Given the description of an element on the screen output the (x, y) to click on. 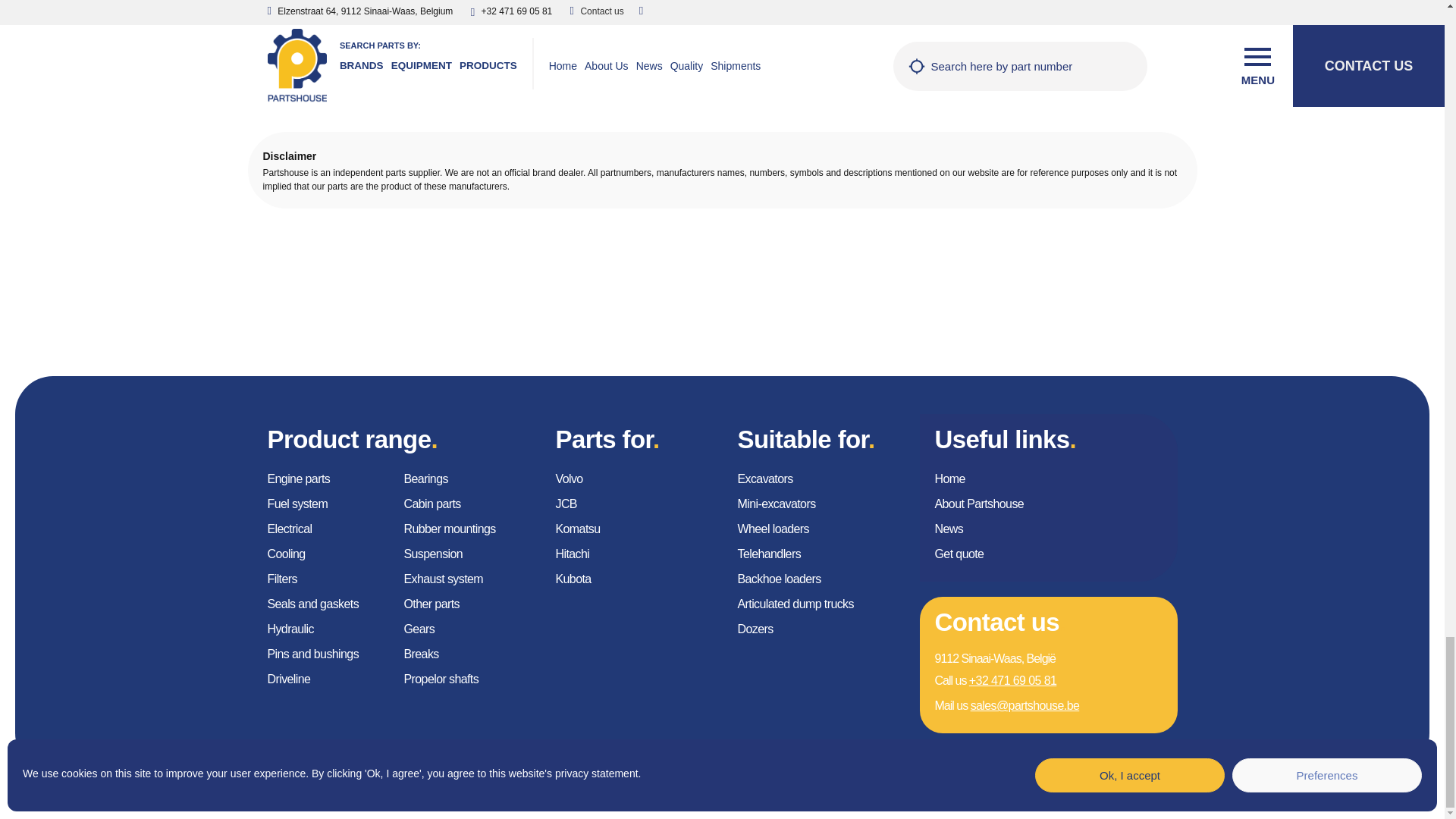
discover our products here (1079, 22)
Need help? (1015, 42)
